Given the description of an element on the screen output the (x, y) to click on. 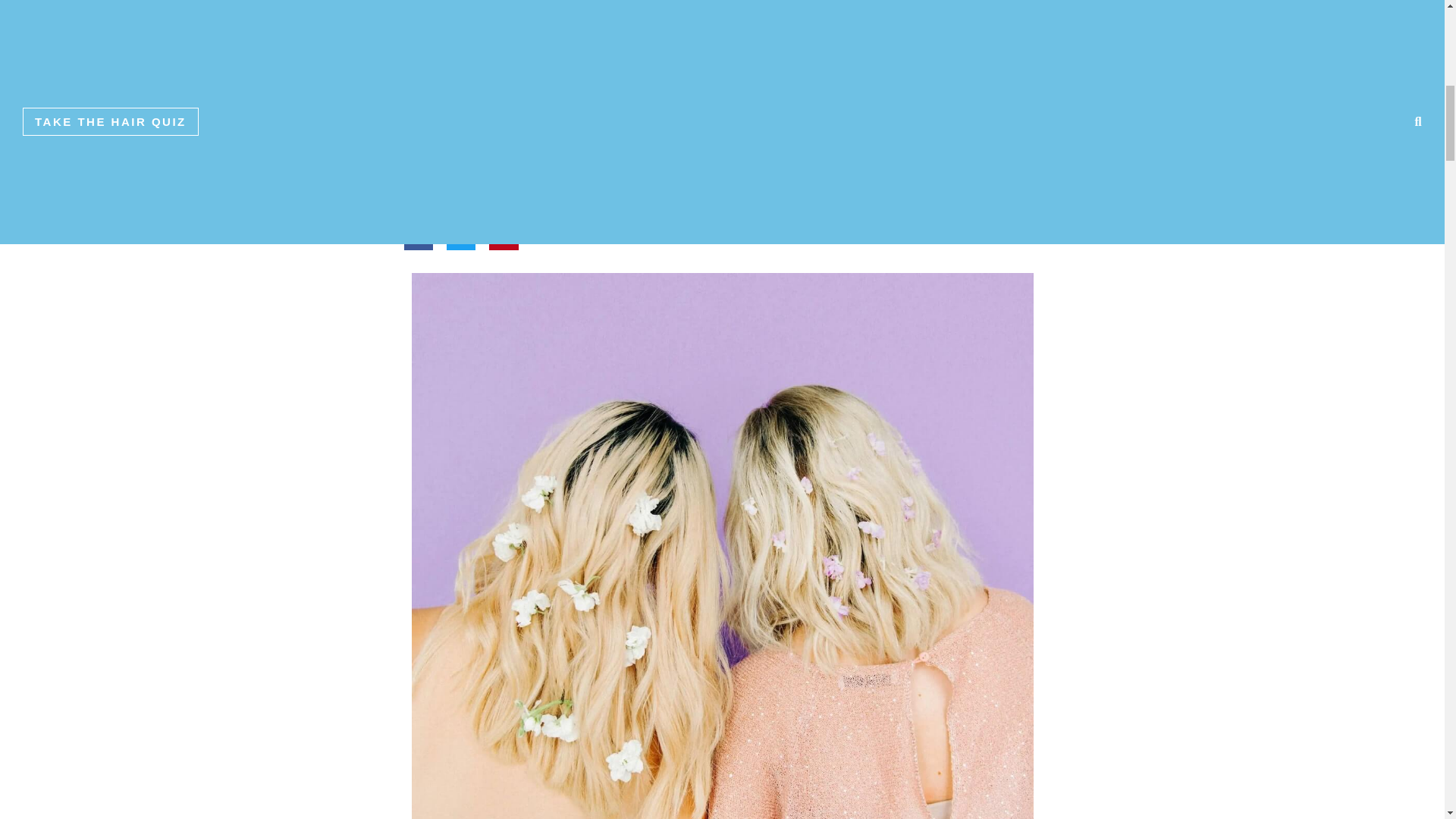
F.Y.I. (423, 90)
WHAT'S NEW (626, 89)
